Given the description of an element on the screen output the (x, y) to click on. 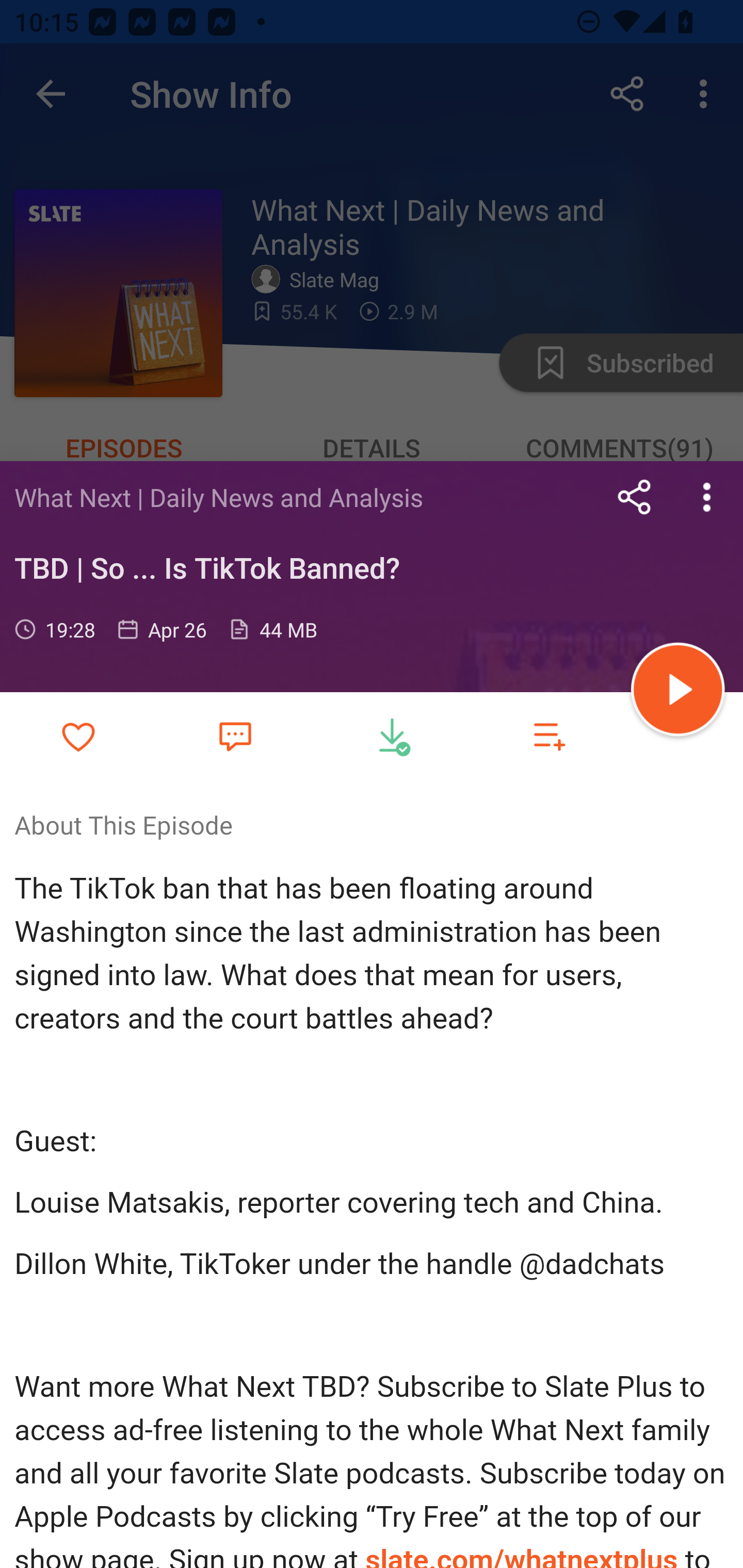
Share (634, 496)
more options (706, 496)
Play (677, 692)
Favorite (234, 735)
Add to Favorites (78, 735)
Downloaded (391, 735)
Add to playlist (548, 735)
 slate.com/whatnextplus (518, 1555)
